Given the description of an element on the screen output the (x, y) to click on. 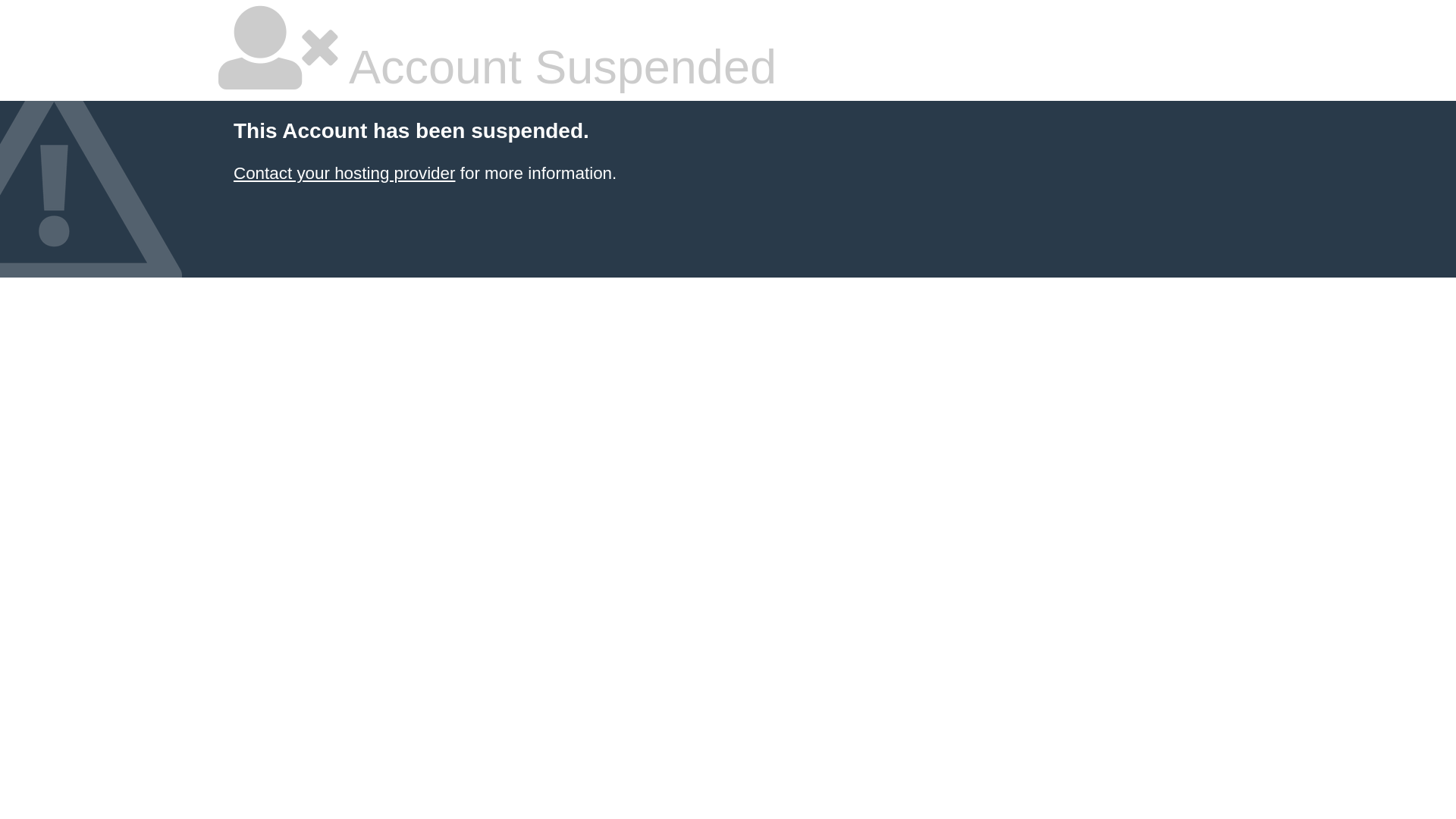
Contact your hosting provider Element type: text (344, 172)
